Given the description of an element on the screen output the (x, y) to click on. 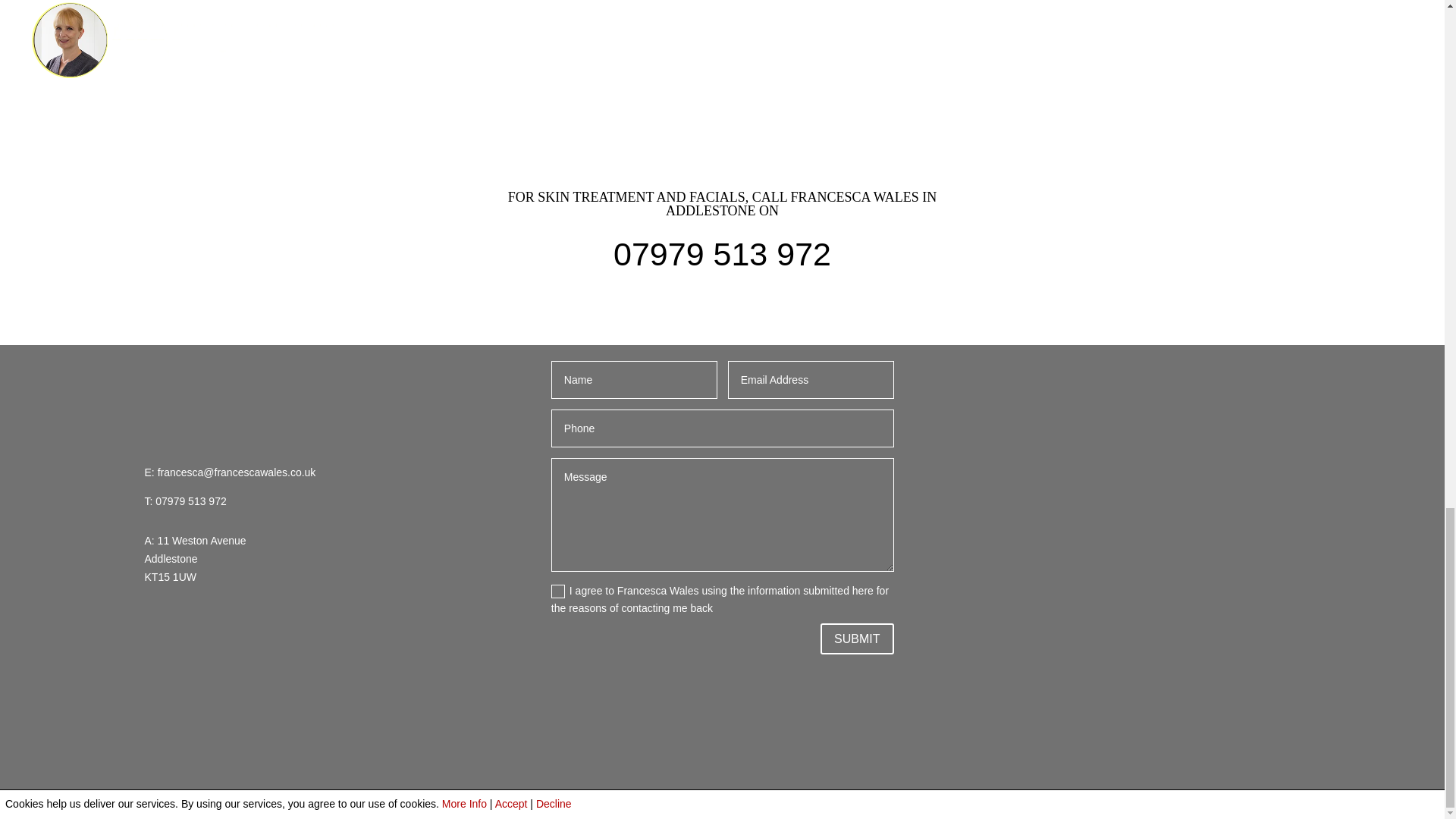
07979 513 972 (190, 500)
07979 513 972 (721, 253)
SUBMIT (857, 638)
OSAM Websites (635, 803)
